Given the description of an element on the screen output the (x, y) to click on. 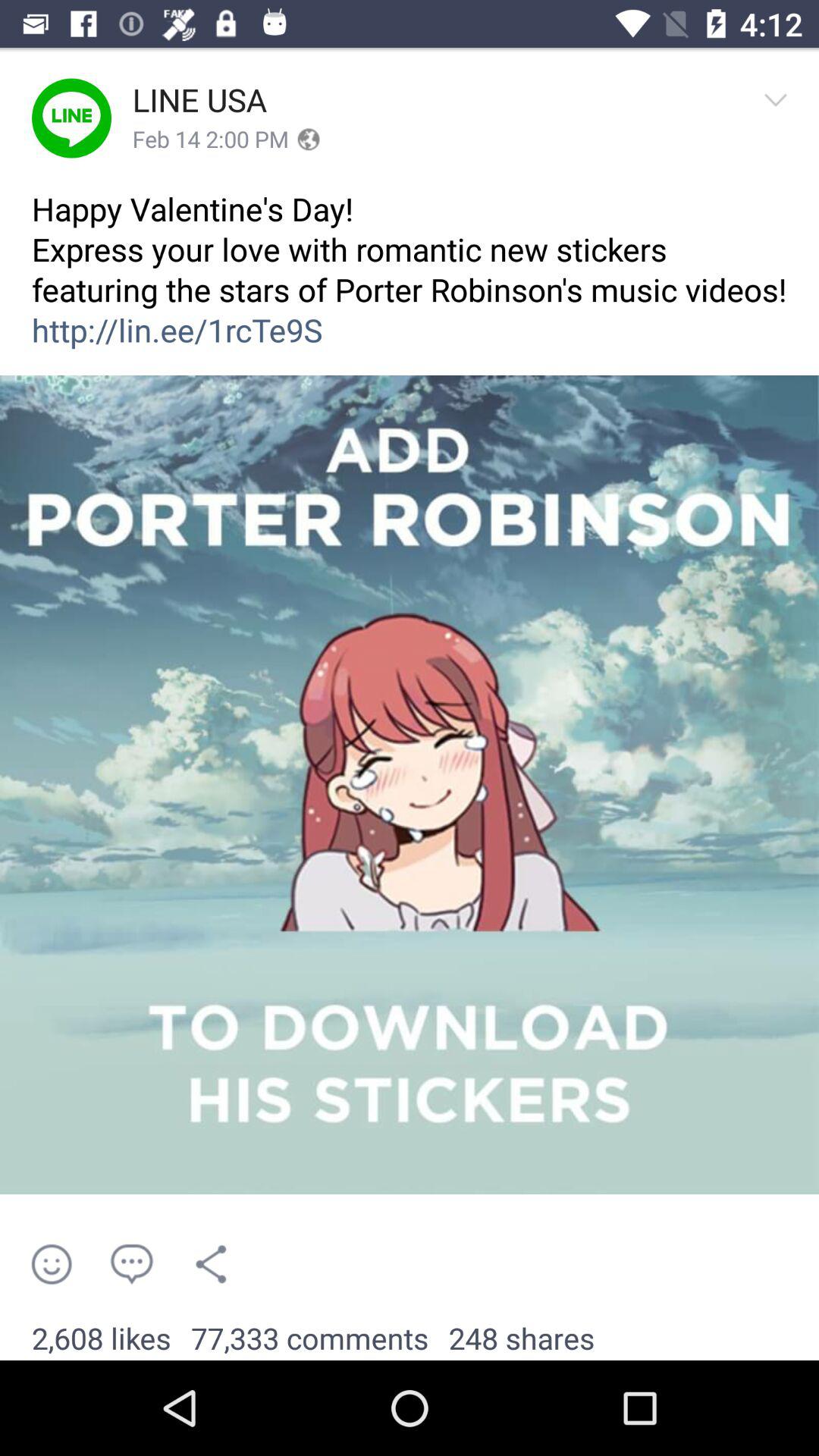
press 248 shares (521, 1339)
